Given the description of an element on the screen output the (x, y) to click on. 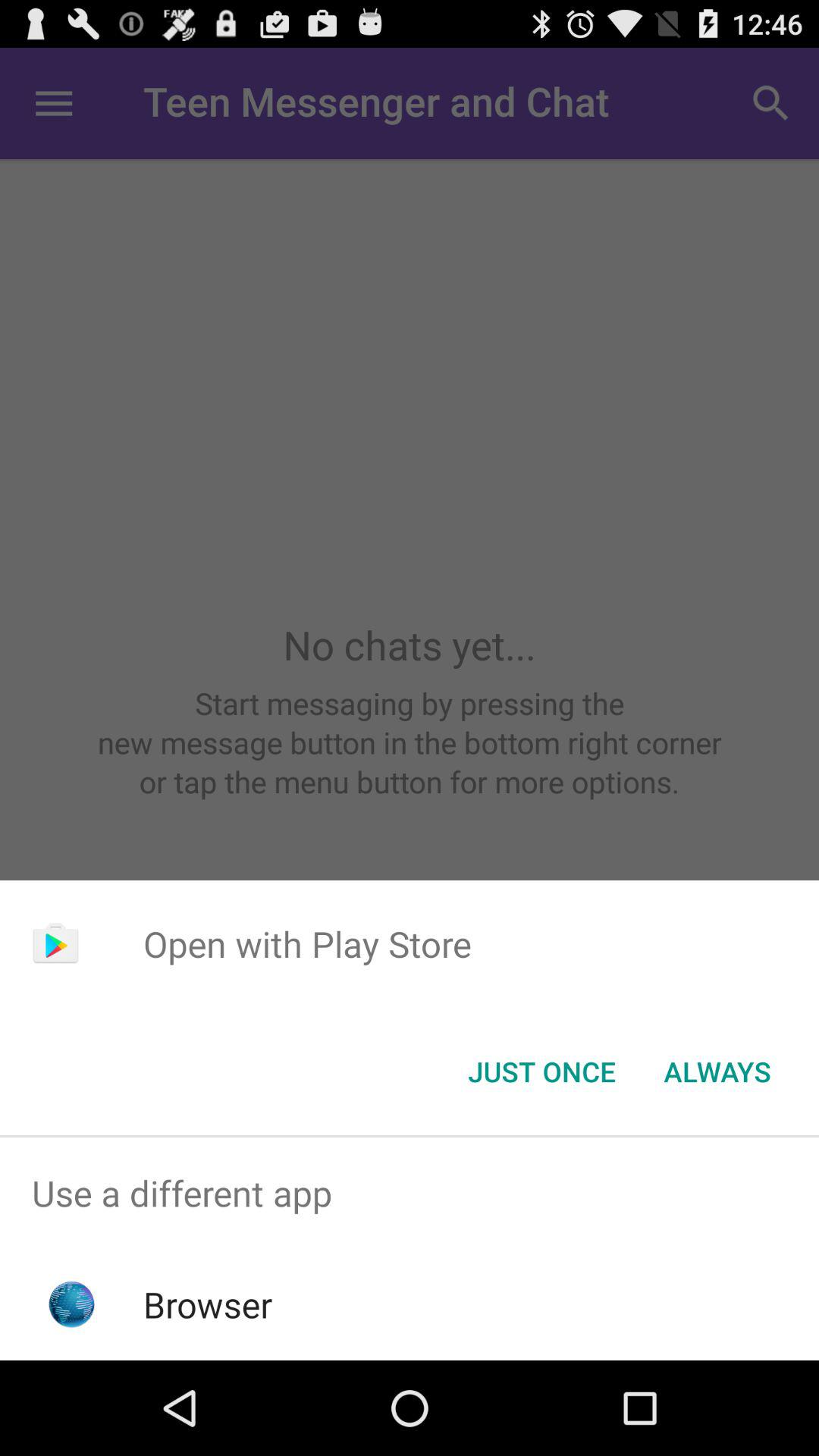
turn off button to the right of the just once icon (717, 1071)
